Given the description of an element on the screen output the (x, y) to click on. 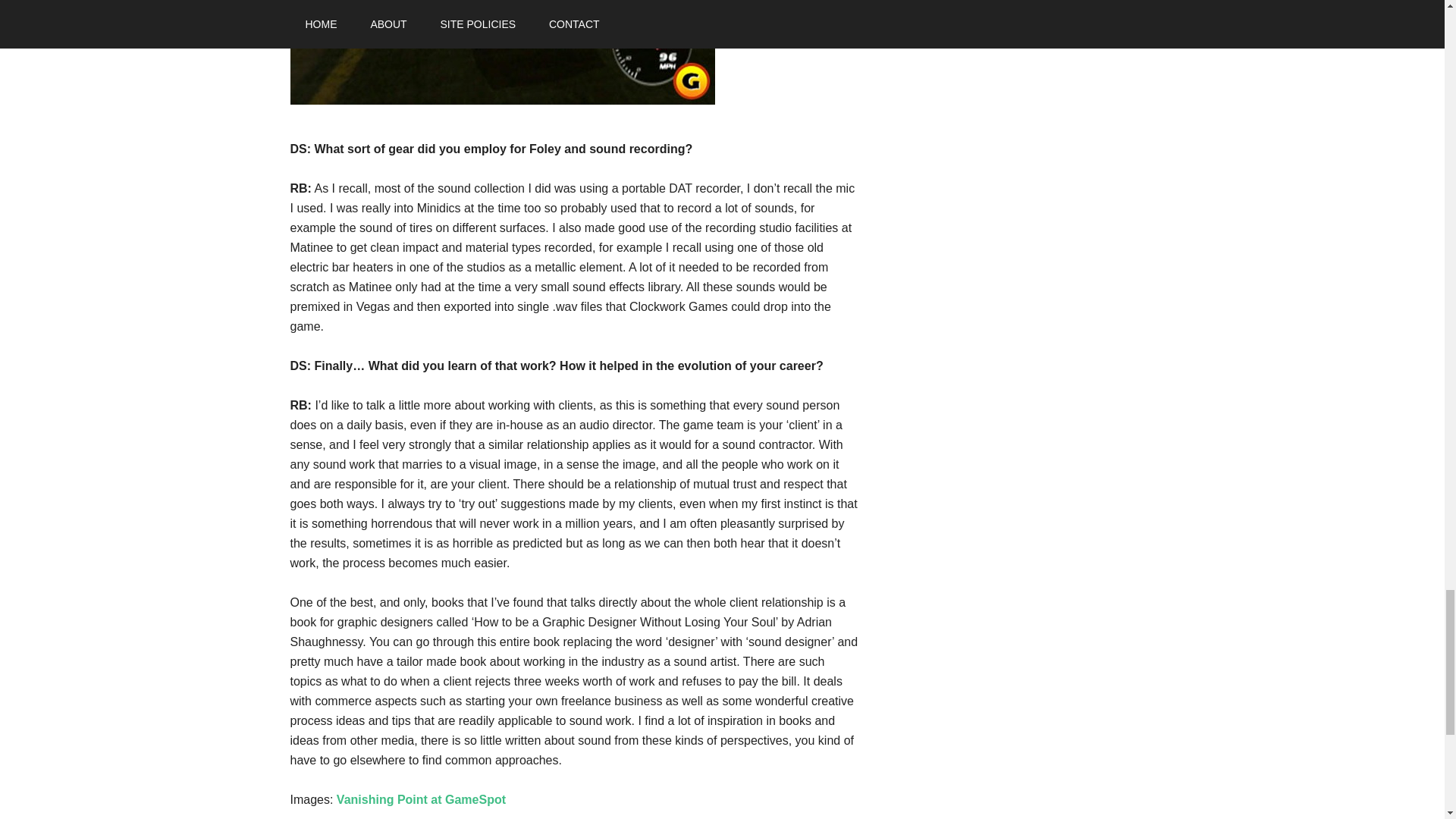
Vanishing Point at GameSpot (420, 799)
